Given the description of an element on the screen output the (x, y) to click on. 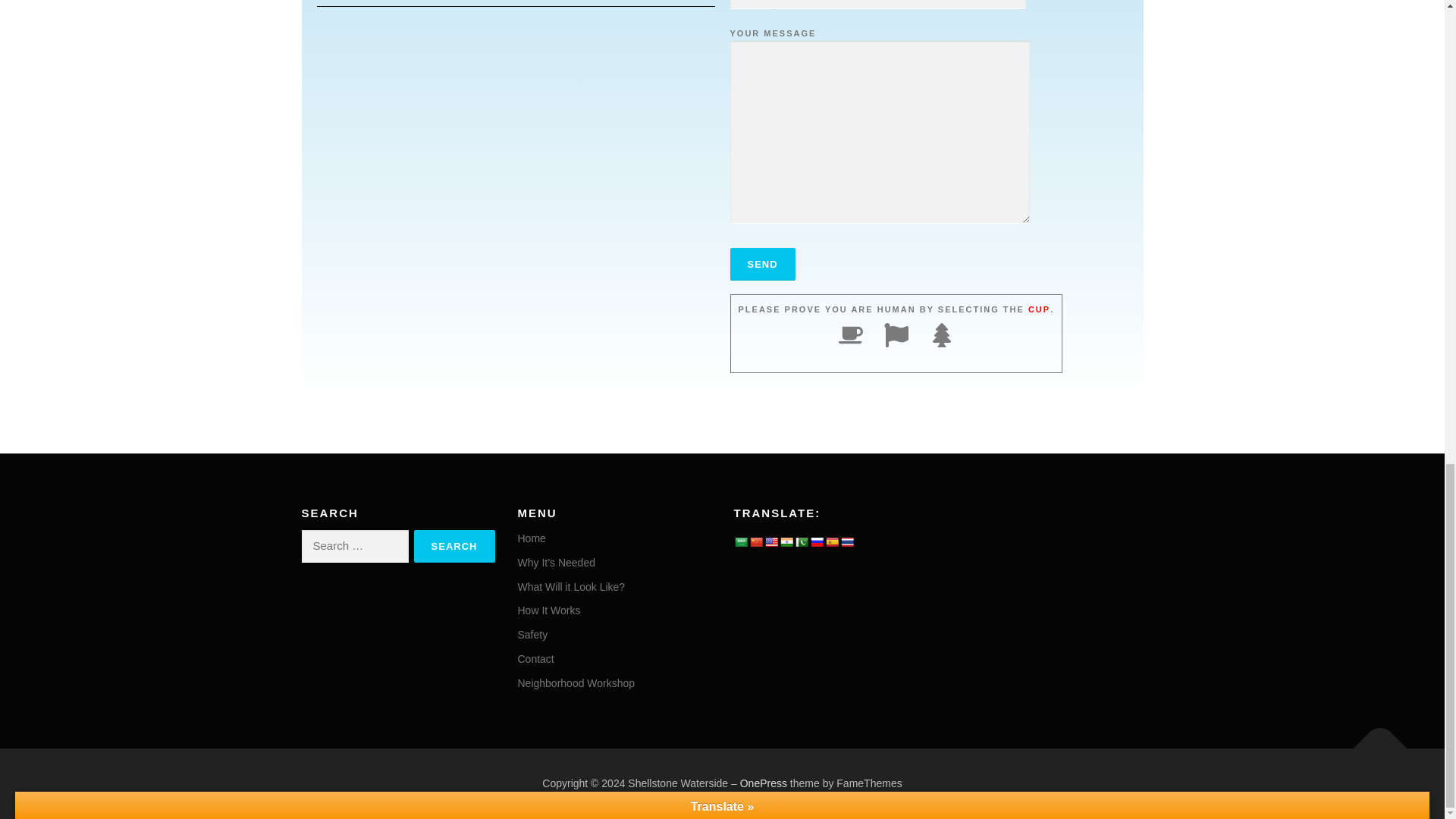
English (770, 541)
Hindi (785, 541)
OnePress (763, 782)
Search (454, 545)
Search (454, 545)
Back To Top (1372, 740)
Safety (531, 634)
Send (761, 264)
Punjabi (801, 541)
Send (761, 264)
Thai (846, 541)
Home (530, 538)
Search (454, 545)
Neighborhood Workshop (575, 683)
Spanish (831, 541)
